Given the description of an element on the screen output the (x, y) to click on. 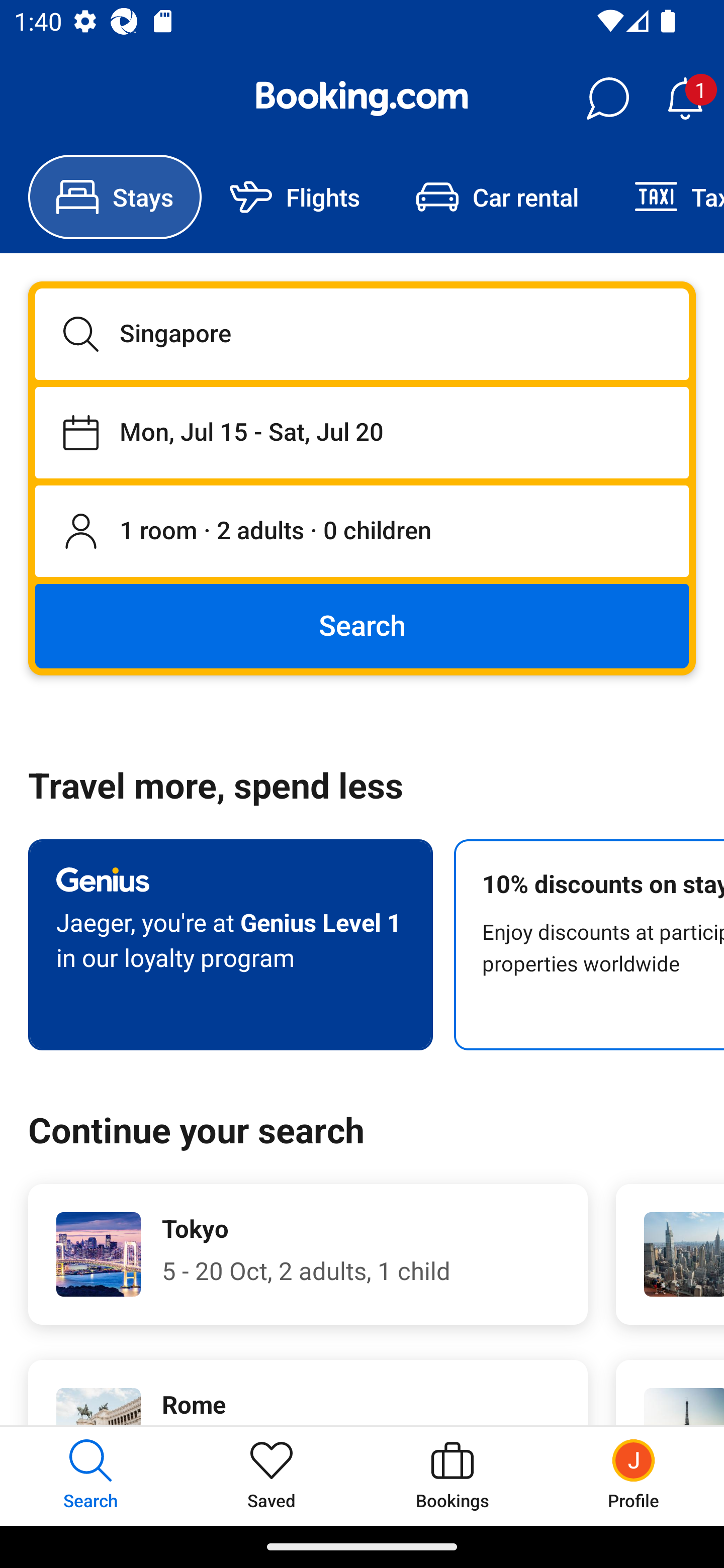
Messages (607, 98)
Notifications (685, 98)
Stays (114, 197)
Flights (294, 197)
Car rental (497, 197)
Taxi (665, 197)
Singapore (361, 333)
Staying from Mon, Jul 15 until Sat, Jul 20 (361, 432)
1 room, 2 adults, 0 children (361, 531)
Search (361, 625)
Tokyo 5 - 20 Oct, 2 adults, 1 child (307, 1253)
Saved (271, 1475)
Bookings (452, 1475)
Profile (633, 1475)
